Given the description of an element on the screen output the (x, y) to click on. 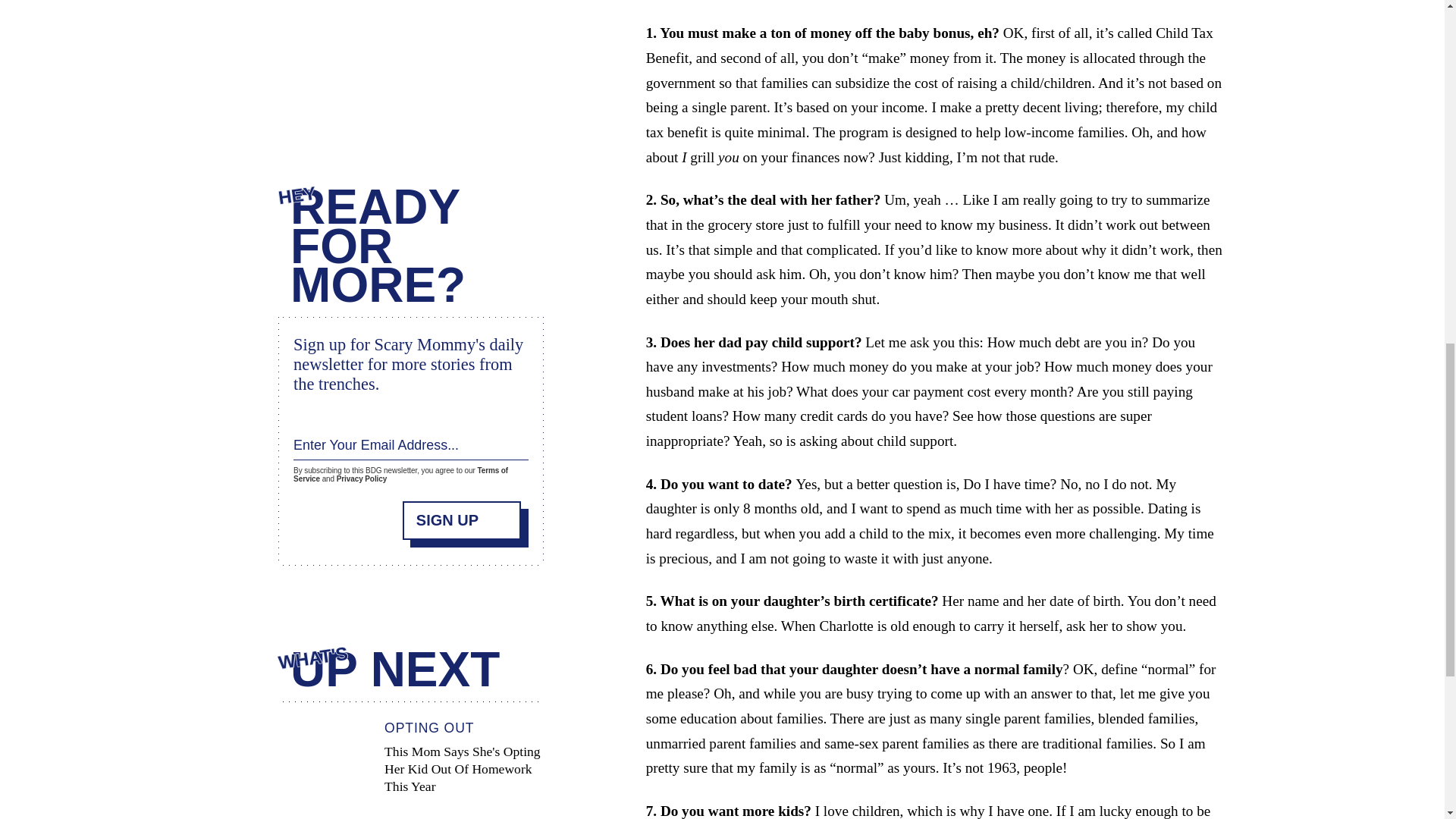
SIGN UP (462, 512)
Privacy Policy (361, 473)
Terms of Service (401, 467)
